Given the description of an element on the screen output the (x, y) to click on. 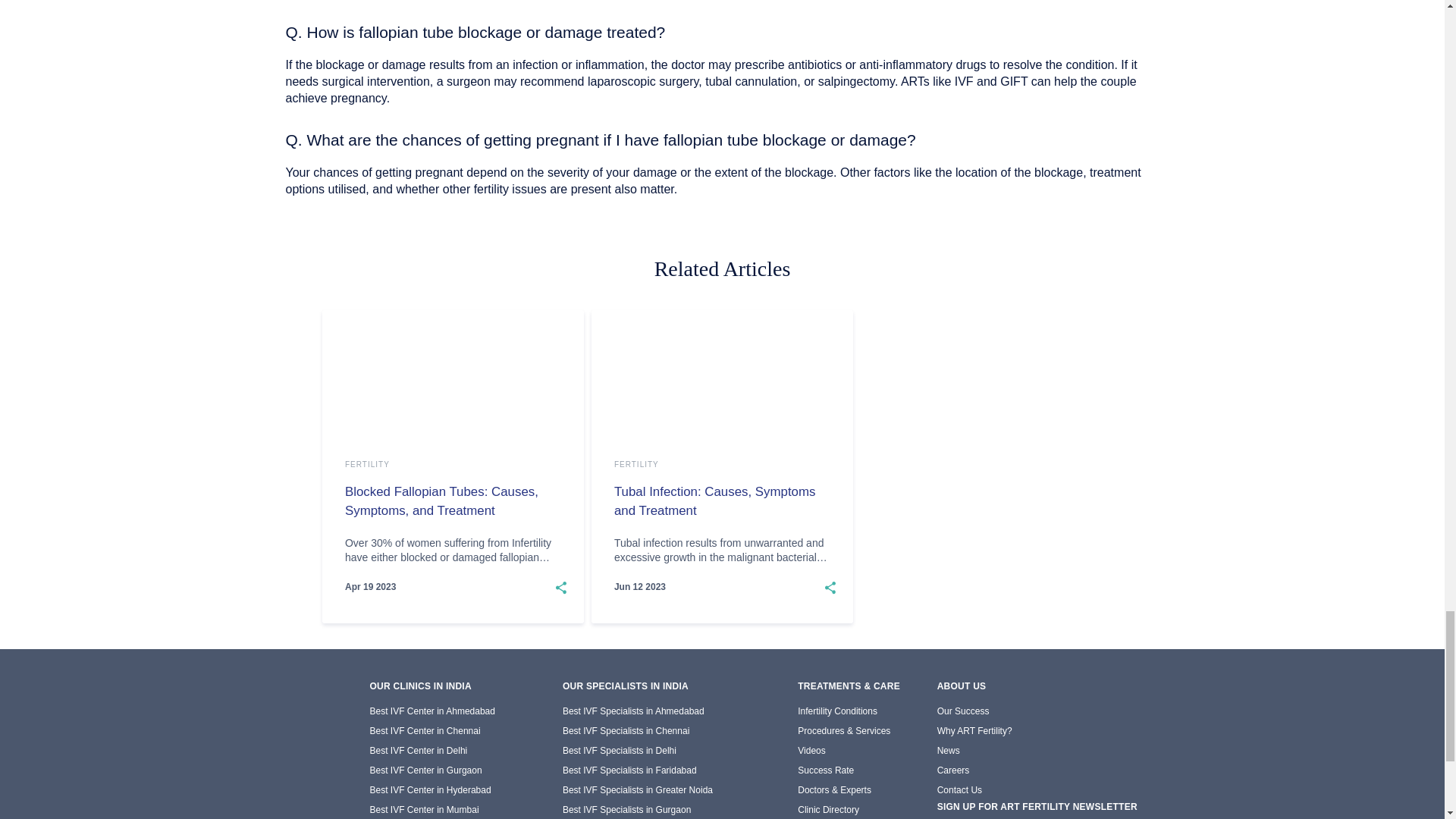
Art Fertility Clinics (227, 698)
